Given the description of an element on the screen output the (x, y) to click on. 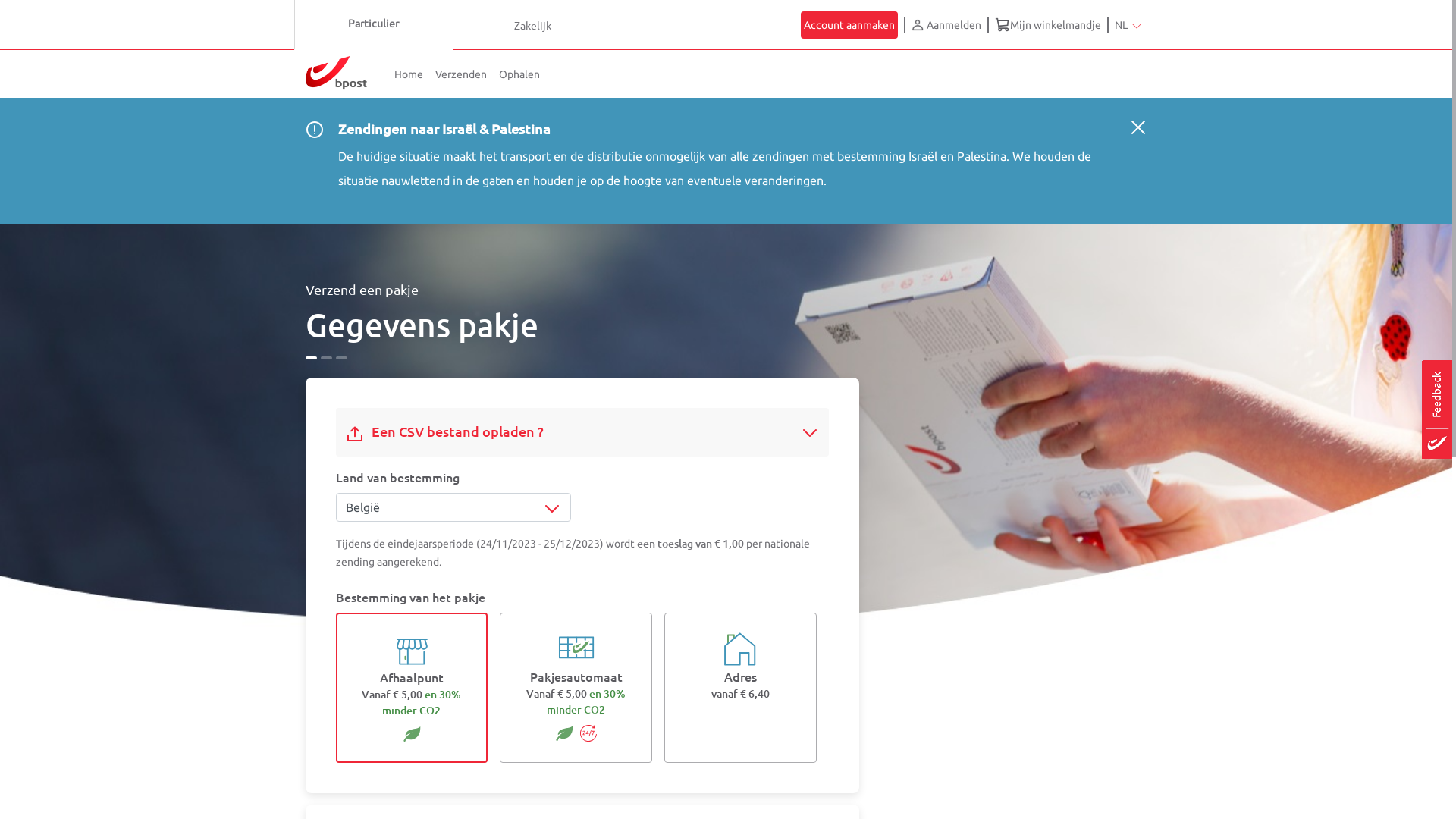
Een CSV bestand opladen ? Element type: text (448, 432)
NL Element type: text (1127, 24)
Zakelijk Element type: text (532, 24)
Aanmelden Element type: text (946, 24)
Verzenden Element type: text (460, 73)
Mijn winkelmandje Element type: text (1047, 24)
Home Element type: text (408, 73)
Particulier Element type: text (373, 25)
Account aanmaken Element type: text (848, 24)
Usabilla Feedback Button Element type: hover (1436, 409)
Ophalen Element type: text (518, 73)
